Given the description of an element on the screen output the (x, y) to click on. 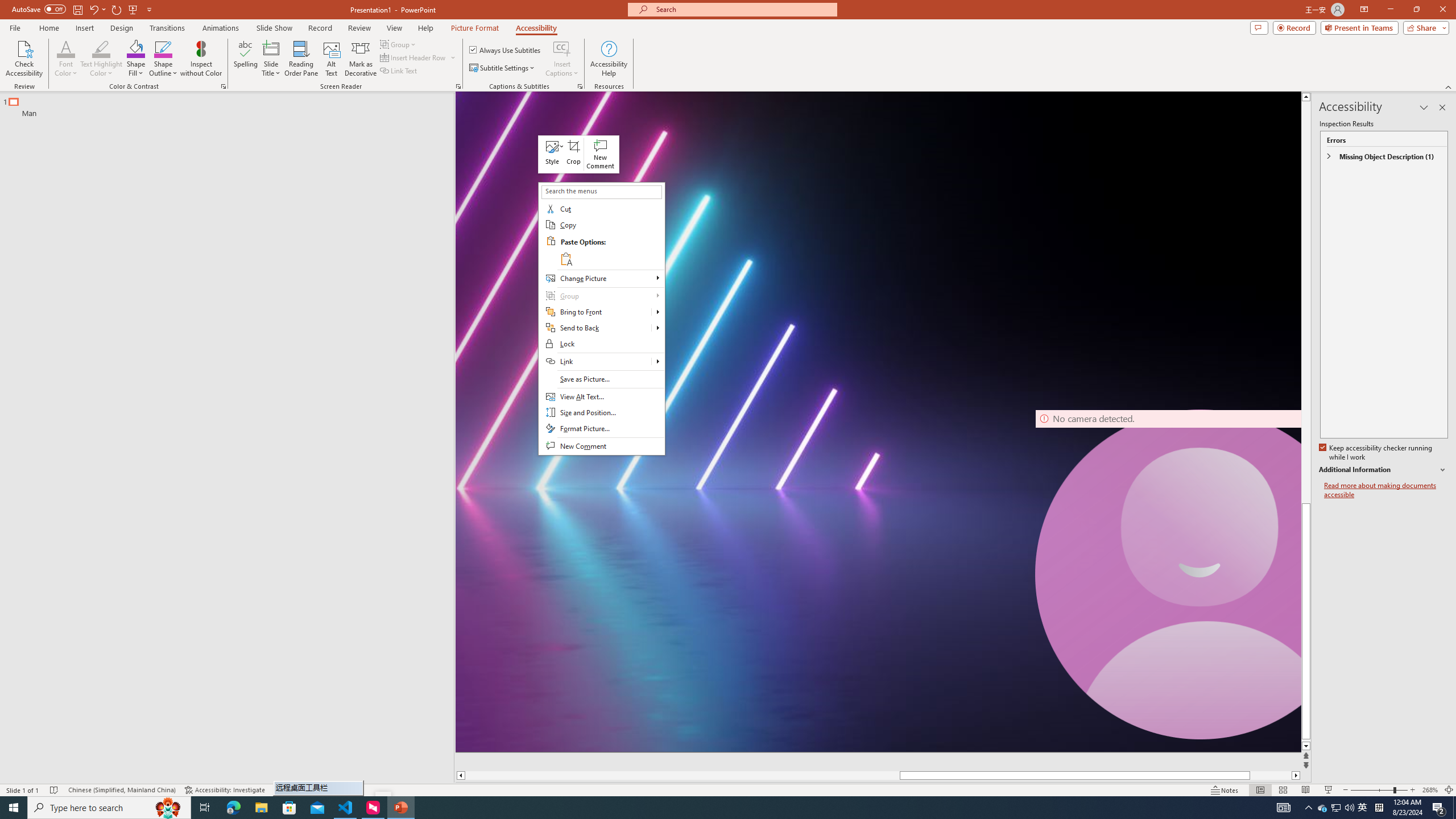
Context Menu (601, 318)
Always Use Subtitles (505, 49)
Subtitle Settings (502, 67)
